Given the description of an element on the screen output the (x, y) to click on. 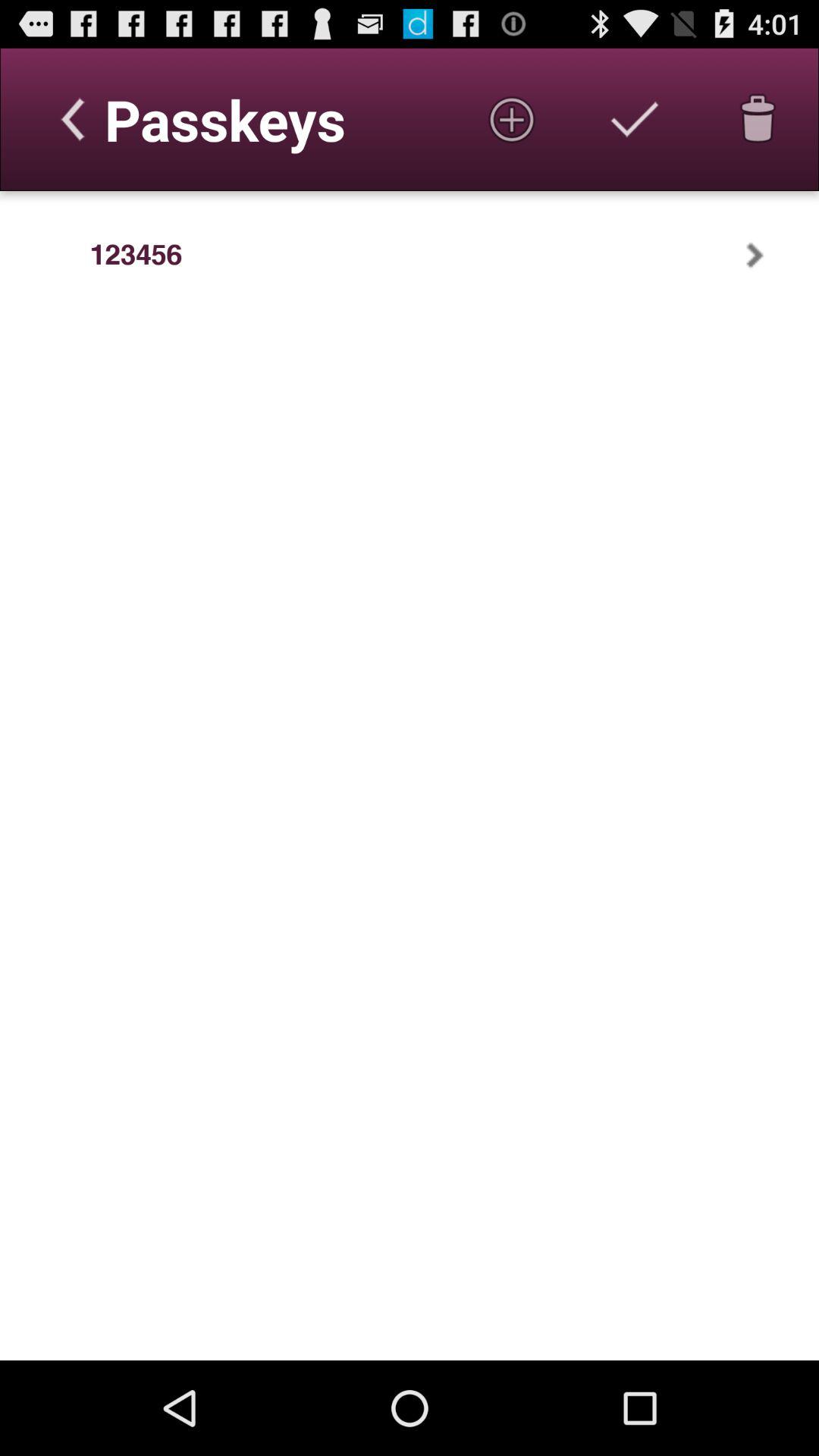
press the icon next to 123456 app (773, 254)
